Given the description of an element on the screen output the (x, y) to click on. 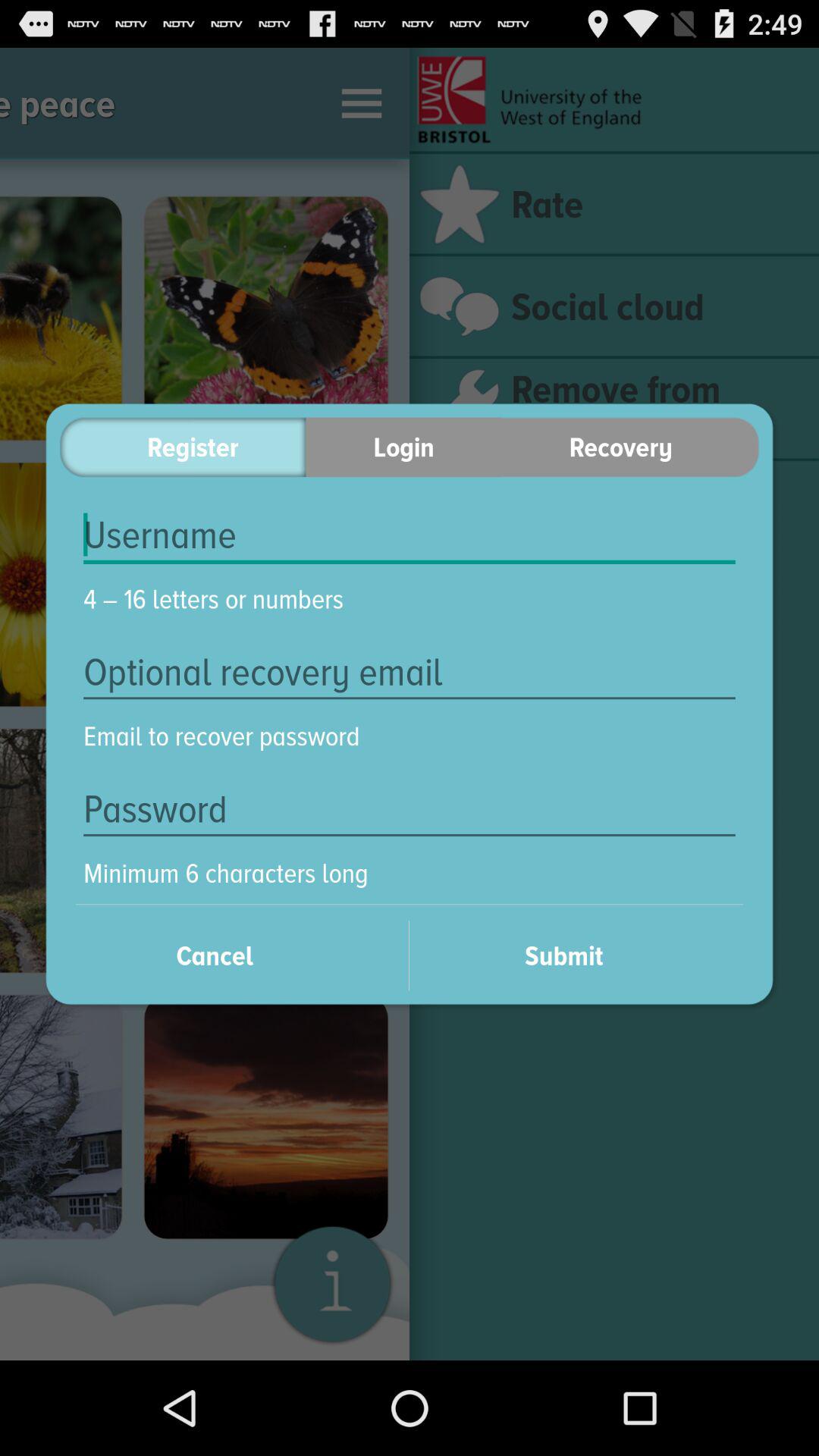
launch recovery (630, 447)
